Given the description of an element on the screen output the (x, y) to click on. 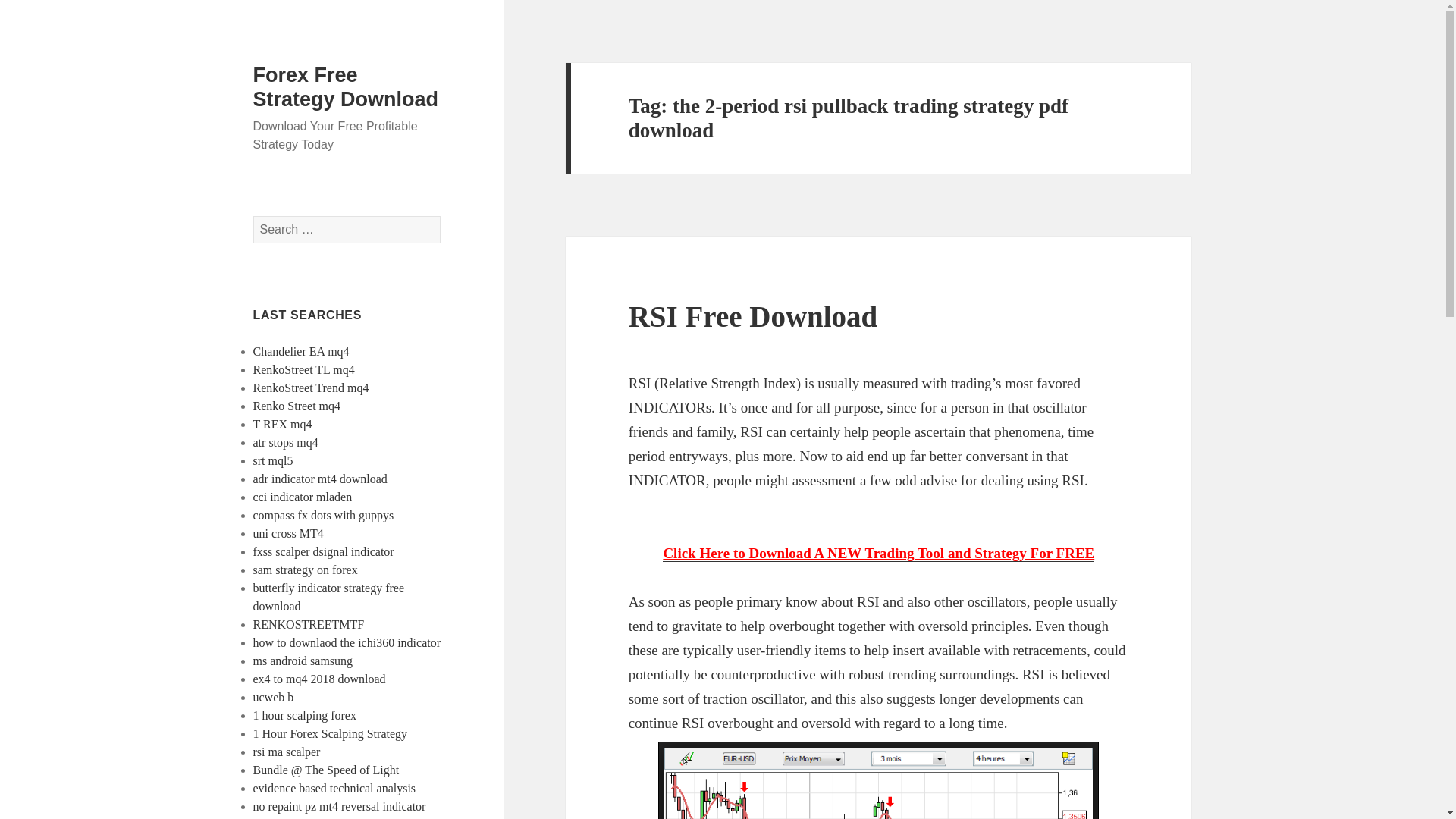
no repaint pz mt4 reversal indicator free download mql5 (339, 809)
ex4 to mq4 2018 download (319, 678)
Search for: (347, 229)
New Indicator for Traders (878, 565)
atr stops mq4 (285, 441)
cci indicator mladen (302, 496)
fxss scalper dsignal indicator (323, 551)
evidence based technical analysis (334, 788)
adr indicator mt4 download (320, 478)
